Given the description of an element on the screen output the (x, y) to click on. 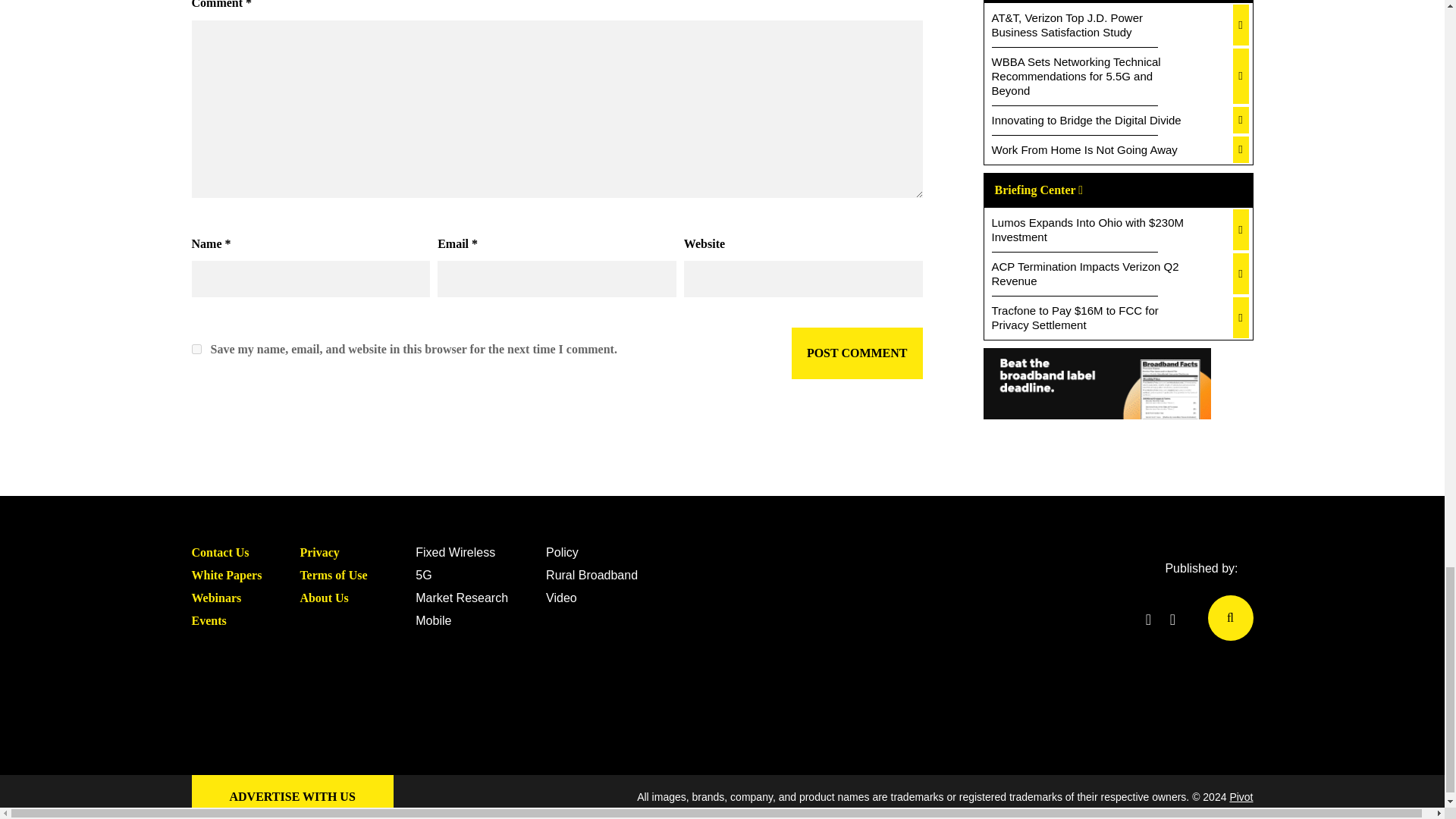
yes (195, 348)
Post Comment (857, 353)
